Given the description of an element on the screen output the (x, y) to click on. 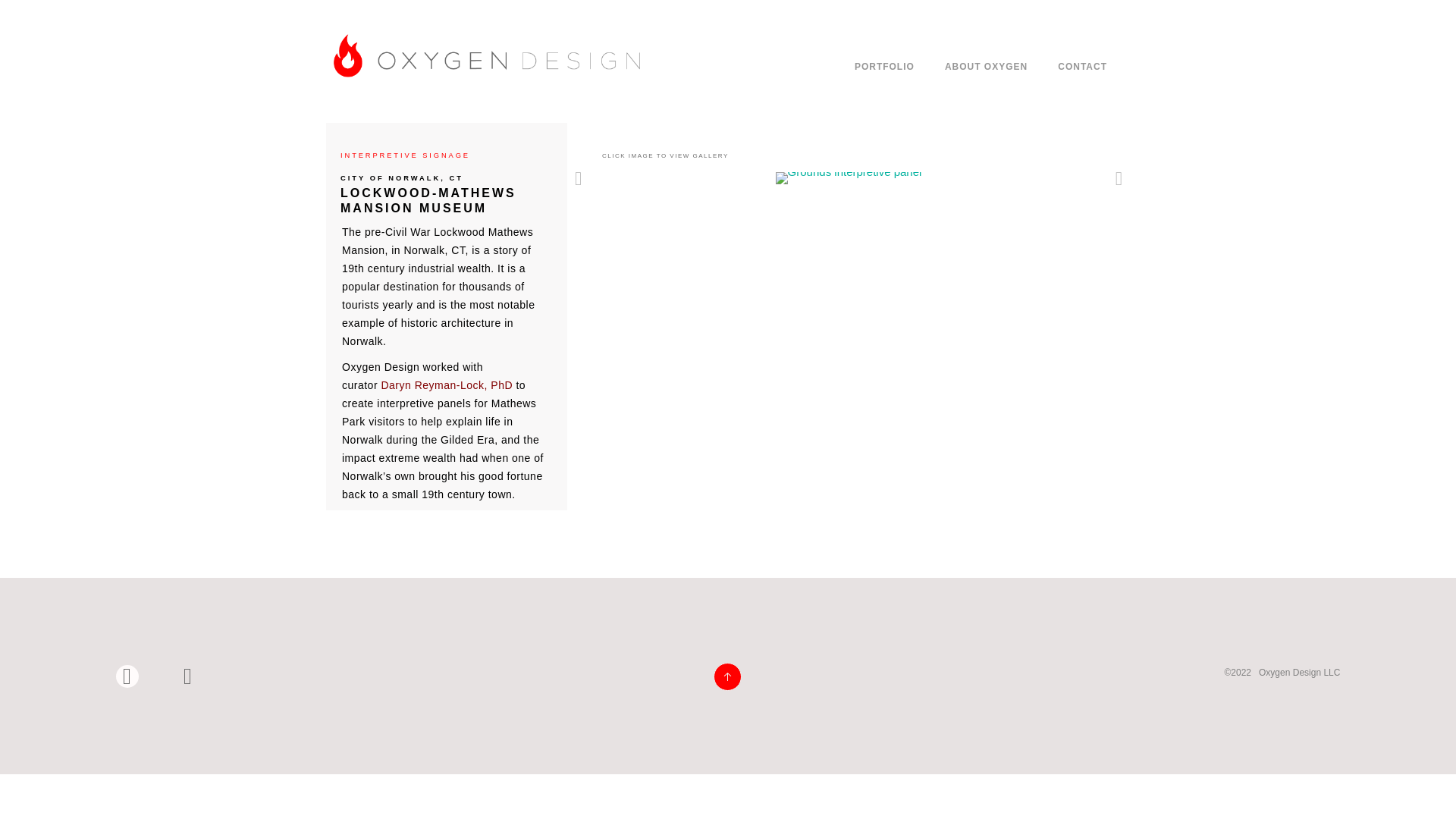
PORTFOLIO (885, 66)
ABOUT OXYGEN (986, 66)
CONTACT (1082, 66)
